Given the description of an element on the screen output the (x, y) to click on. 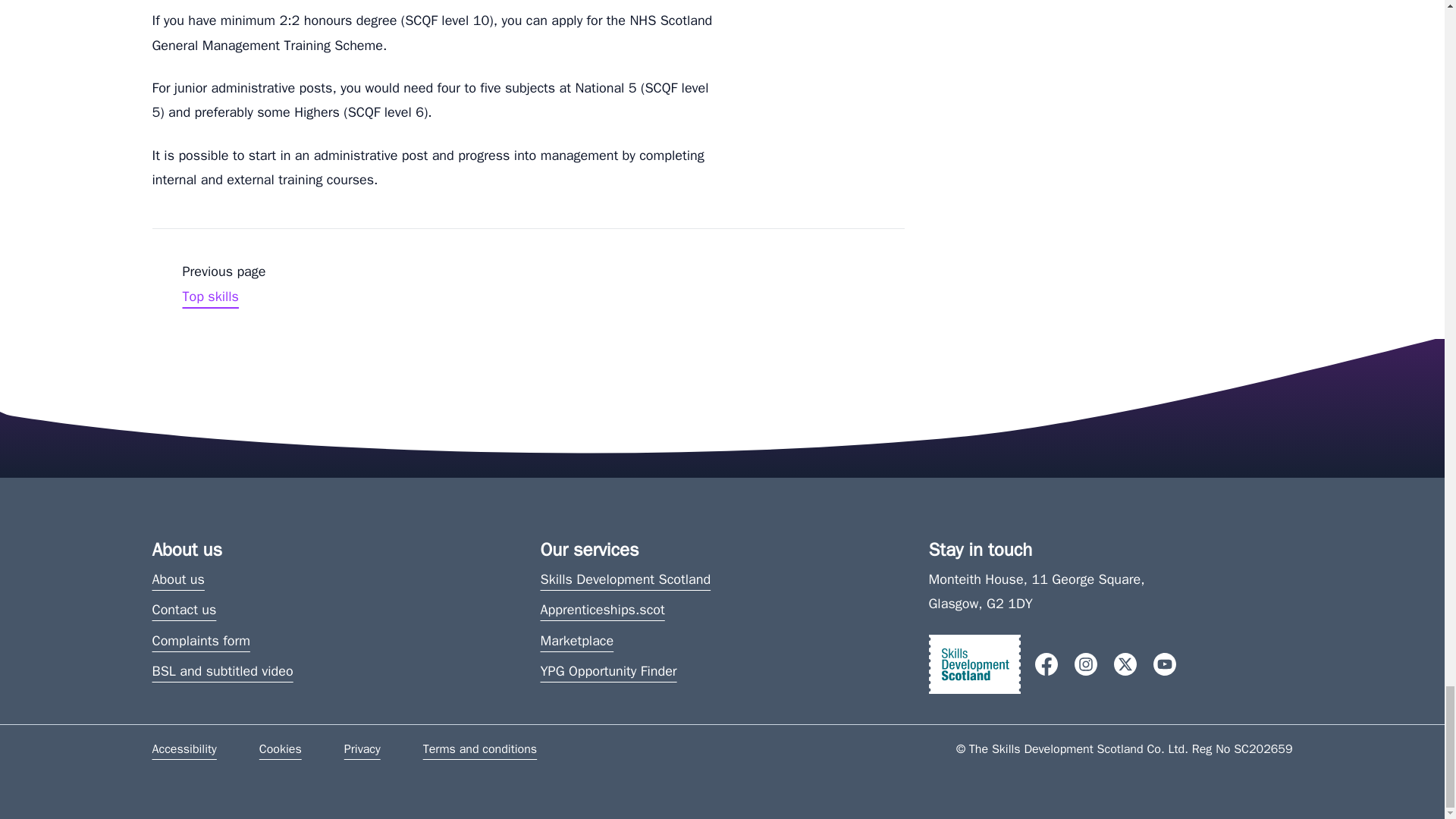
About us (177, 579)
Contact us (207, 283)
